Given the description of an element on the screen output the (x, y) to click on. 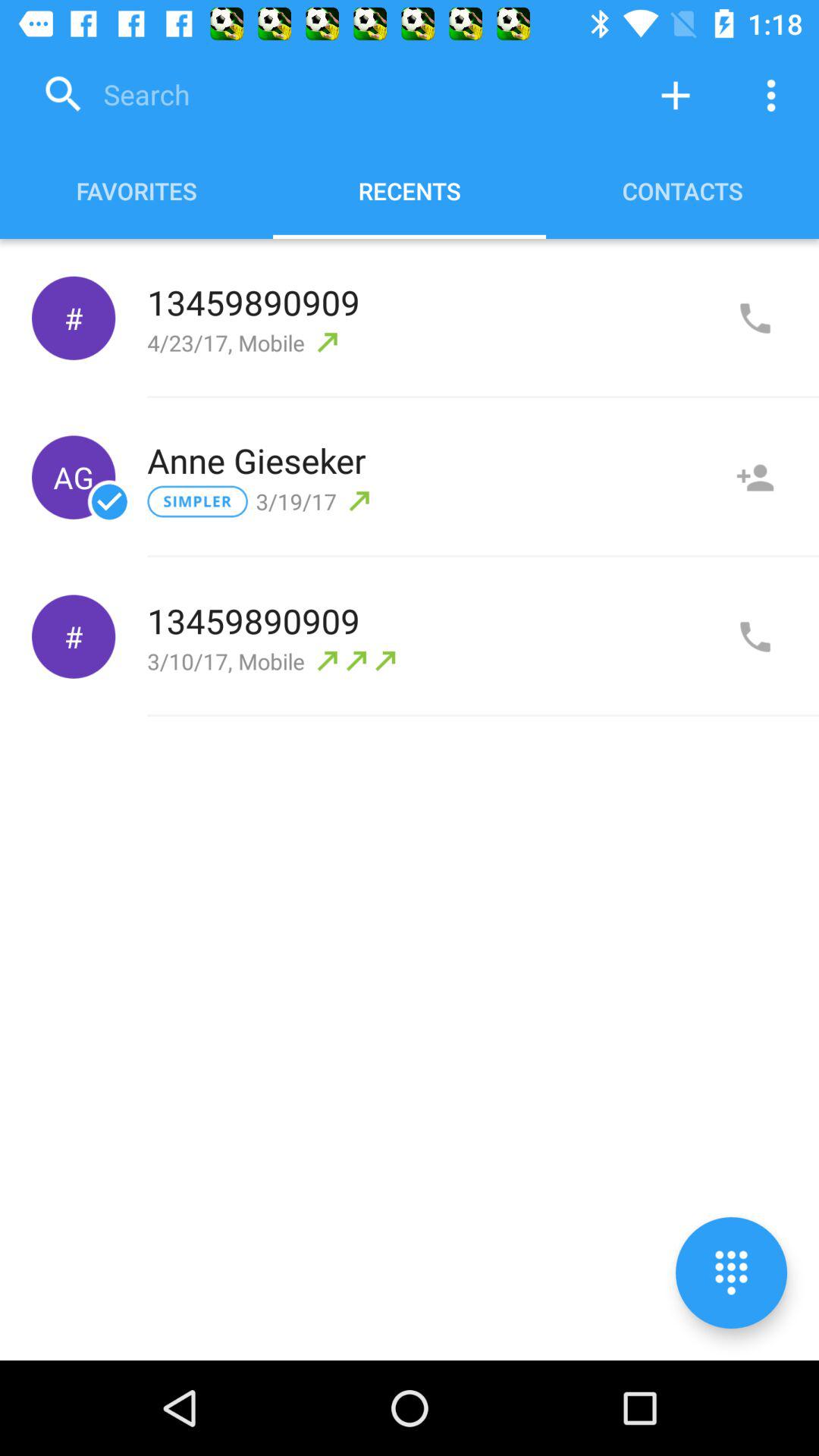
to add contact option (675, 95)
